Given the description of an element on the screen output the (x, y) to click on. 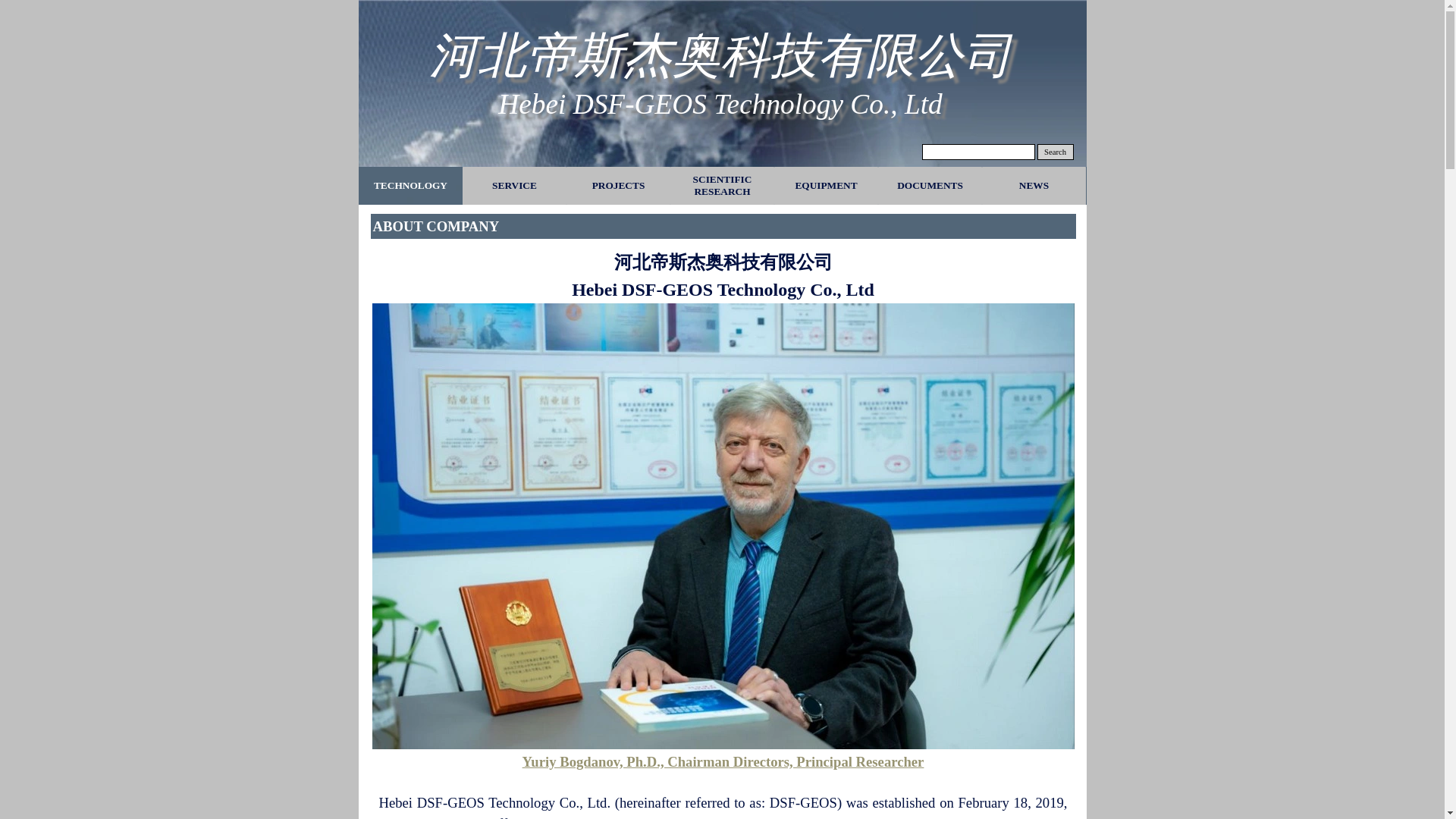
Search (1055, 151)
NEWS (1033, 185)
